Given the description of an element on the screen output the (x, y) to click on. 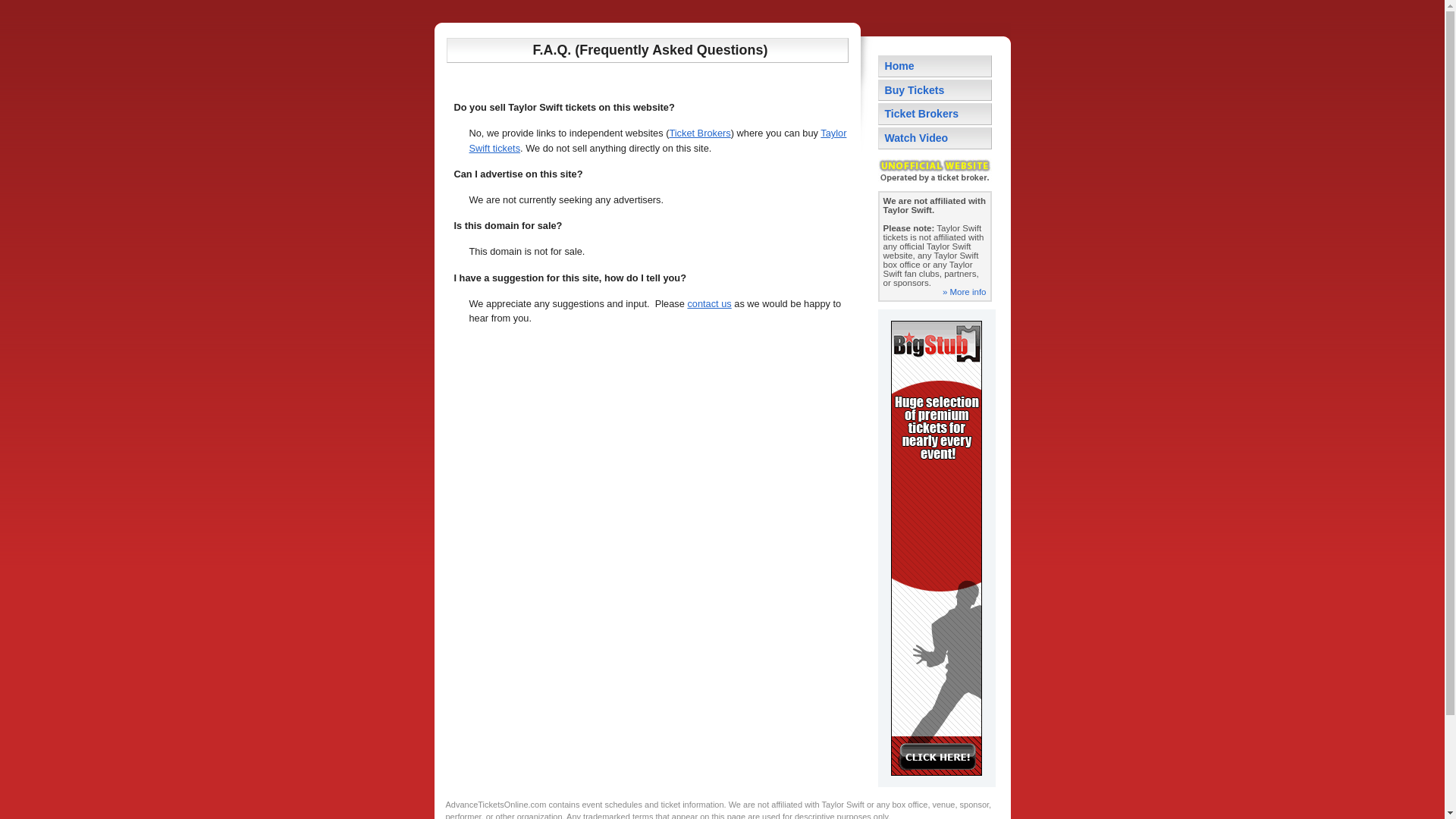
Watch Video (934, 138)
AdvanceTicketsOnline.com (496, 803)
Ticket Brokers (934, 114)
Home (934, 65)
Taylor Swift tickets (656, 140)
Ticket Brokers (699, 132)
contact us (708, 303)
Buy Tickets (934, 90)
